Given the description of an element on the screen output the (x, y) to click on. 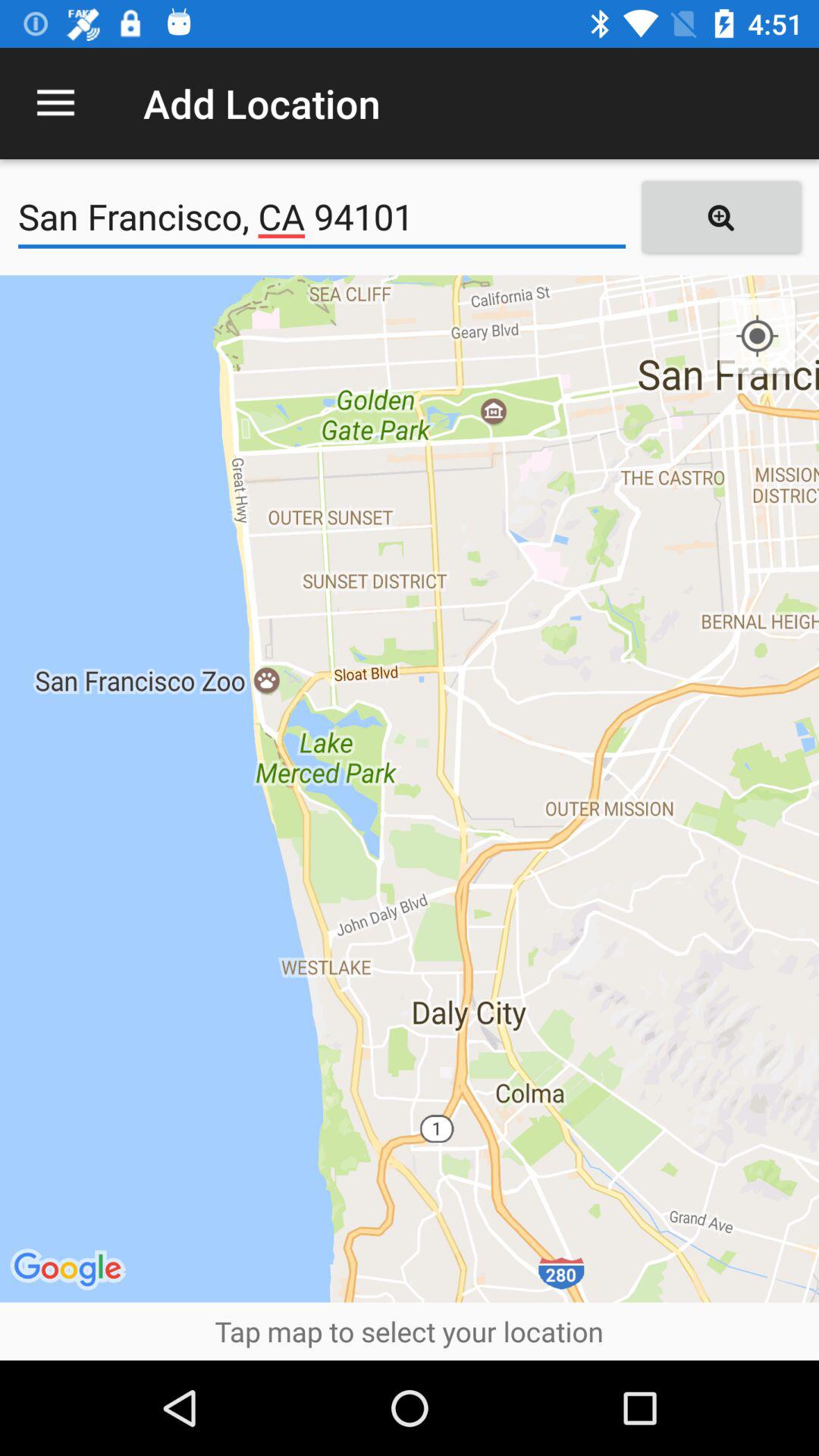
choose the icon to the left of add location item (55, 103)
